Given the description of an element on the screen output the (x, y) to click on. 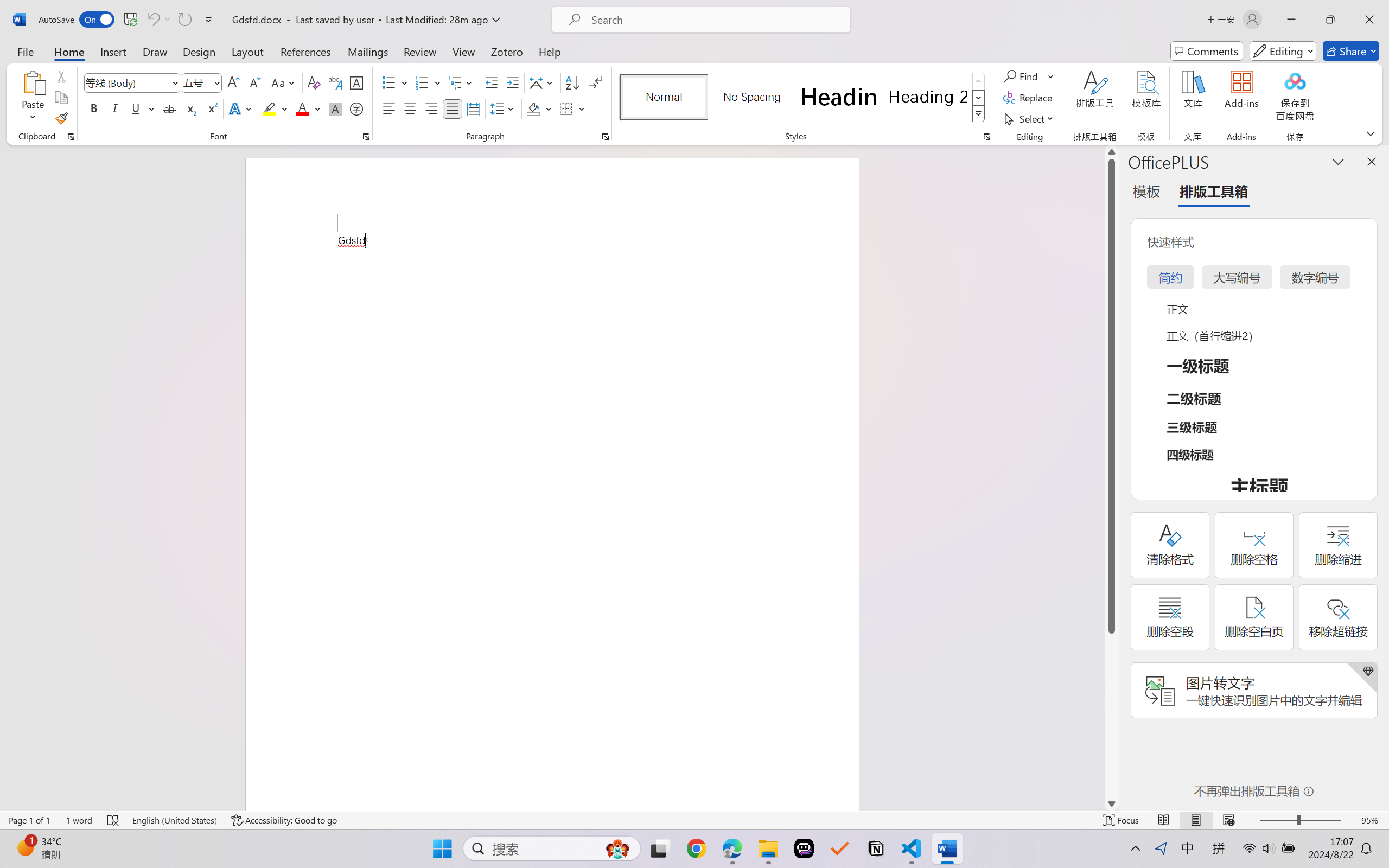
Microsoft search (715, 19)
Spelling and Grammar Check Errors (113, 819)
